Given the description of an element on the screen output the (x, y) to click on. 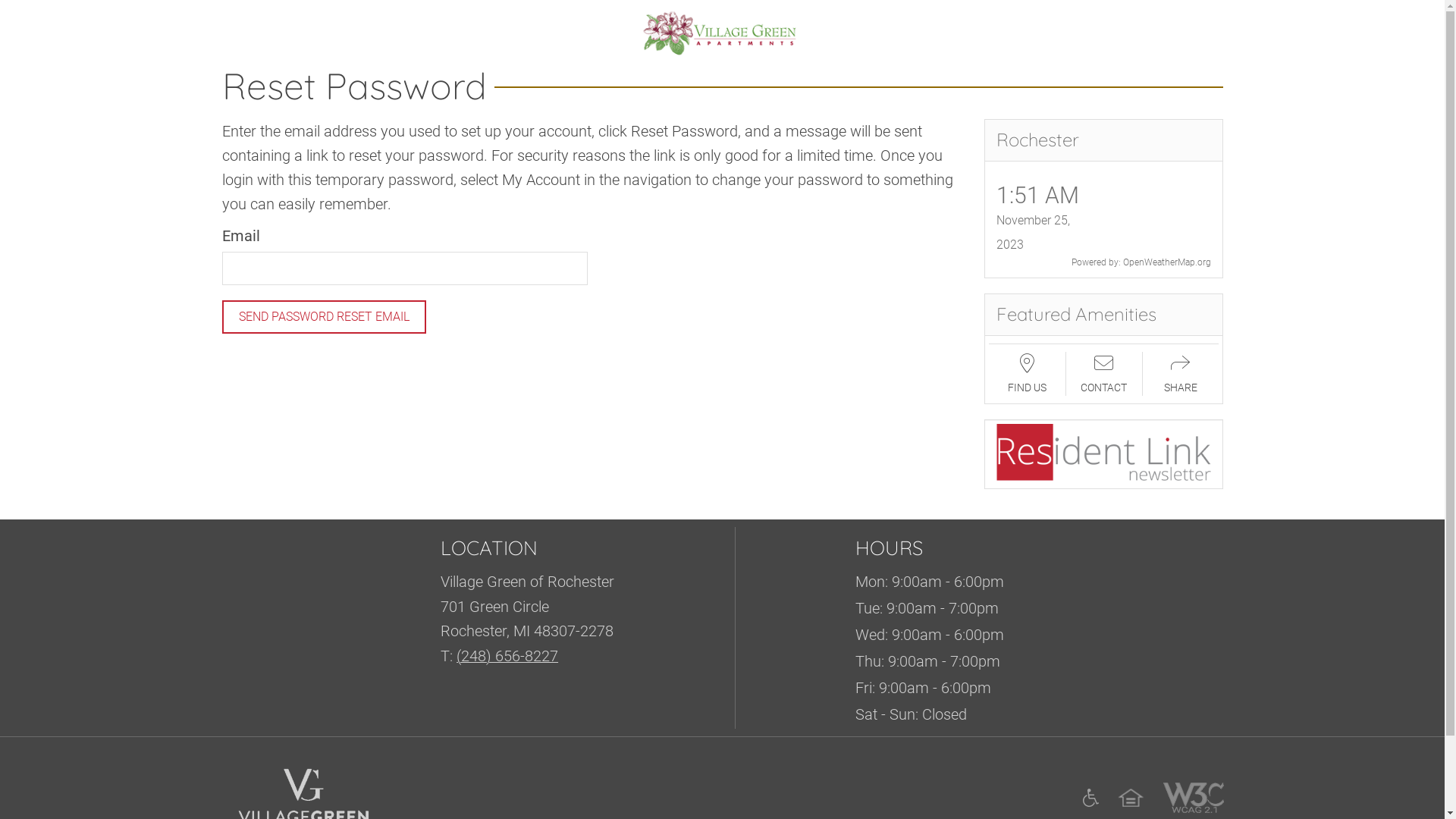
CONTACT Element type: text (1103, 373)
FIND US Element type: text (1026, 373)
(248) 656-8227 Element type: text (507, 655)
Send Password Reset Email Element type: text (323, 316)
SHARE Element type: text (1179, 373)
